Given the description of an element on the screen output the (x, y) to click on. 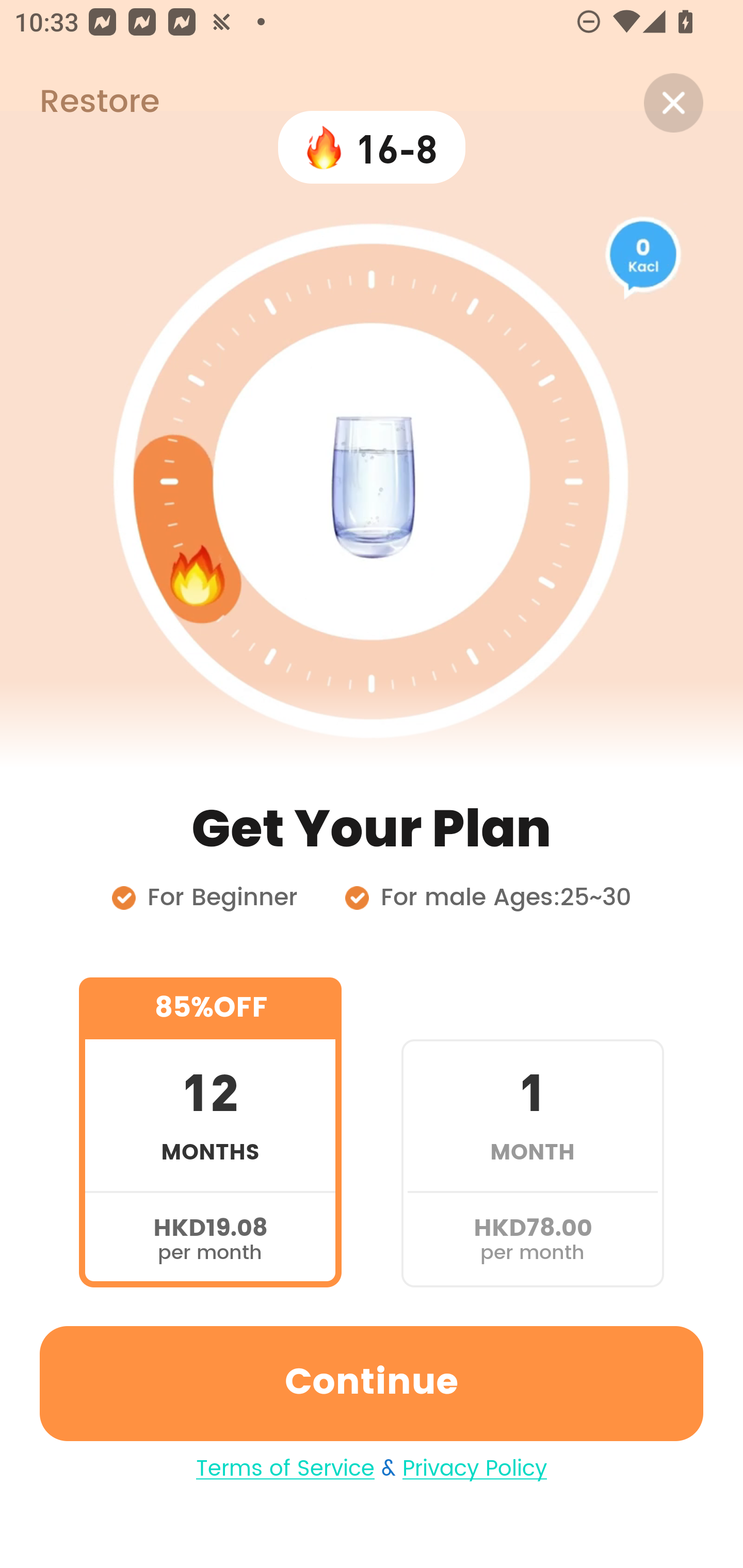
Restore (79, 102)
85%OFF 12 MONTHS per month HKD19.08 (209, 1131)
1 MONTH per month HKD78.00 (532, 1131)
Continue (371, 1383)
